Given the description of an element on the screen output the (x, y) to click on. 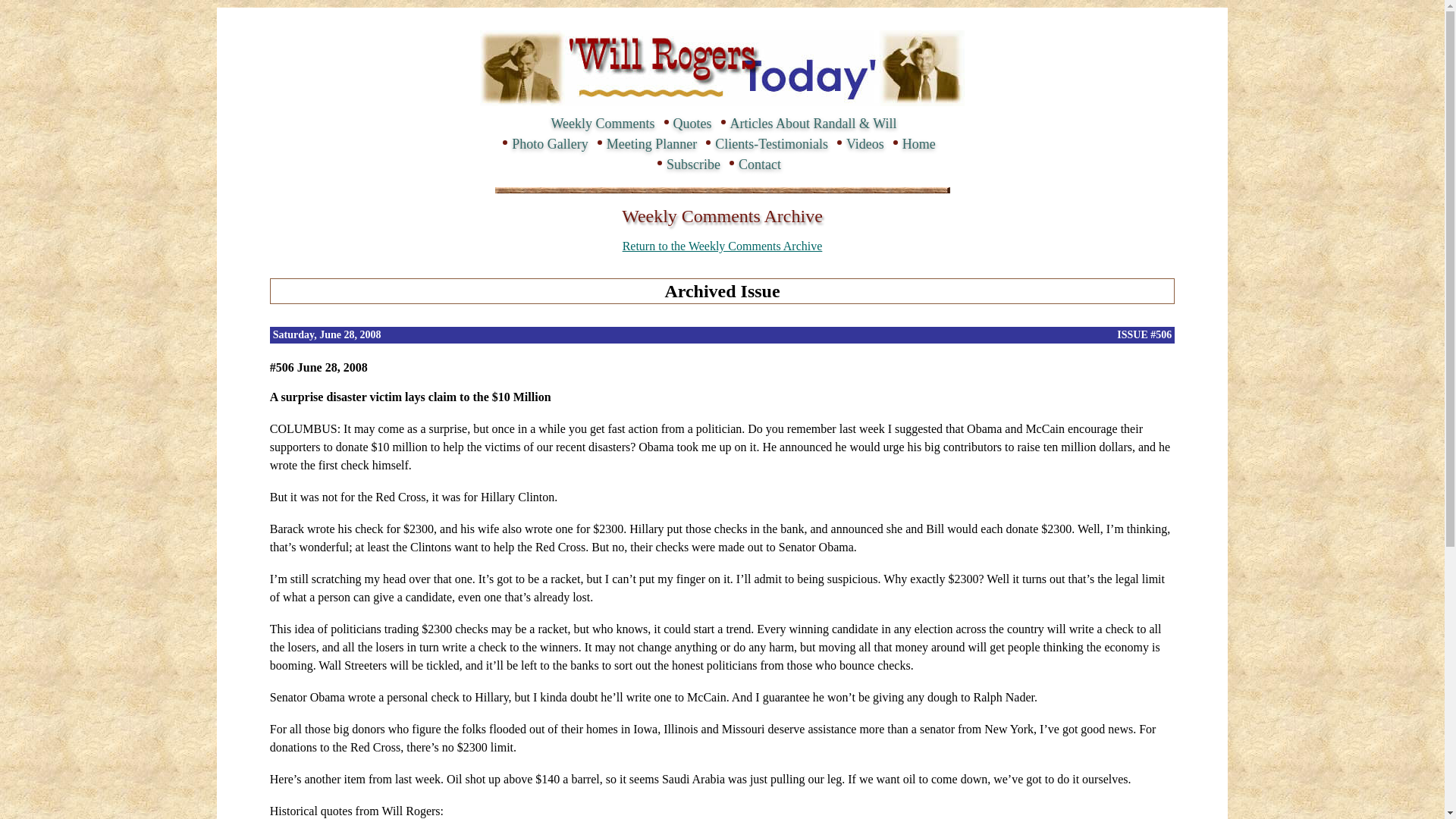
Videos (864, 143)
Weekly Comments (603, 123)
Contact (759, 164)
Clients-Testimonials (771, 143)
Return to the Weekly Comments Archive (722, 245)
Home (919, 143)
Meeting Planner (652, 143)
Subscribe (693, 164)
Quotes (691, 123)
Photo Gallery (550, 143)
